Given the description of an element on the screen output the (x, y) to click on. 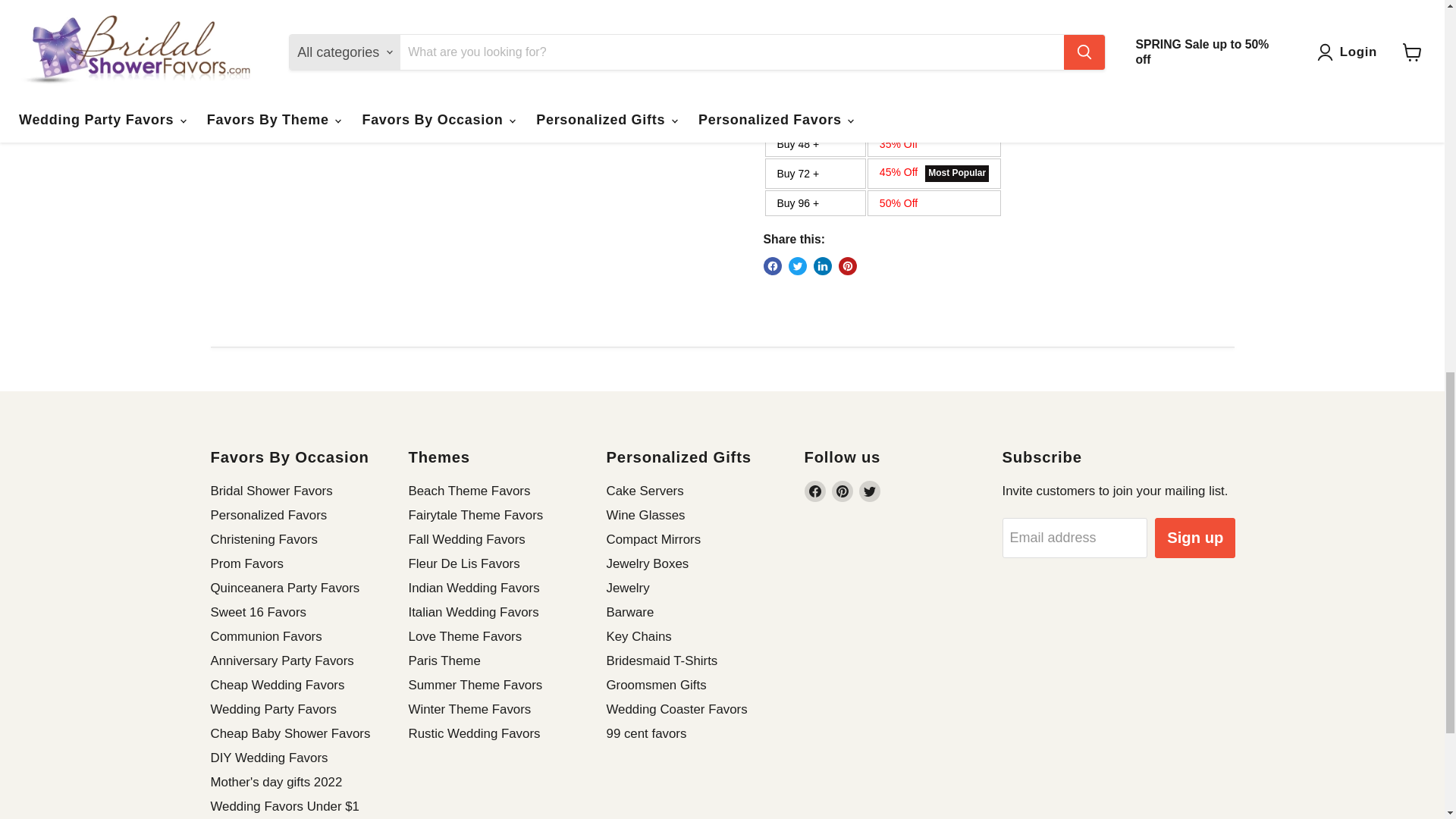
Facebook (814, 491)
Pinterest (841, 491)
Twitter (869, 491)
